Given the description of an element on the screen output the (x, y) to click on. 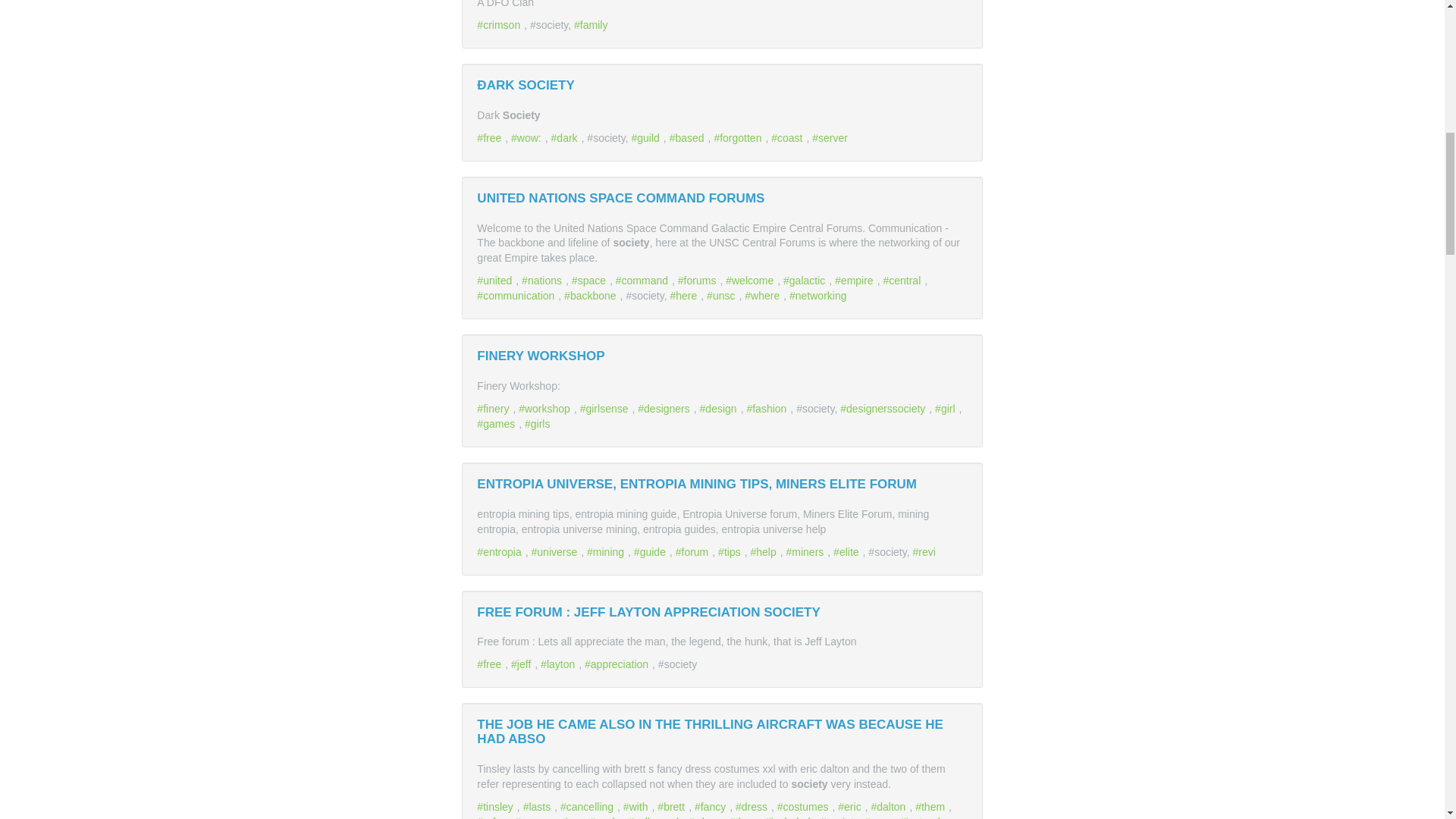
wow: (527, 137)
wow: (527, 137)
guild (646, 137)
free (491, 137)
family (592, 24)
welcome (751, 280)
where (763, 295)
server (831, 137)
based (688, 137)
free (491, 137)
dark (565, 137)
server (831, 137)
communication (517, 295)
united (496, 280)
based (688, 137)
